Given the description of an element on the screen output the (x, y) to click on. 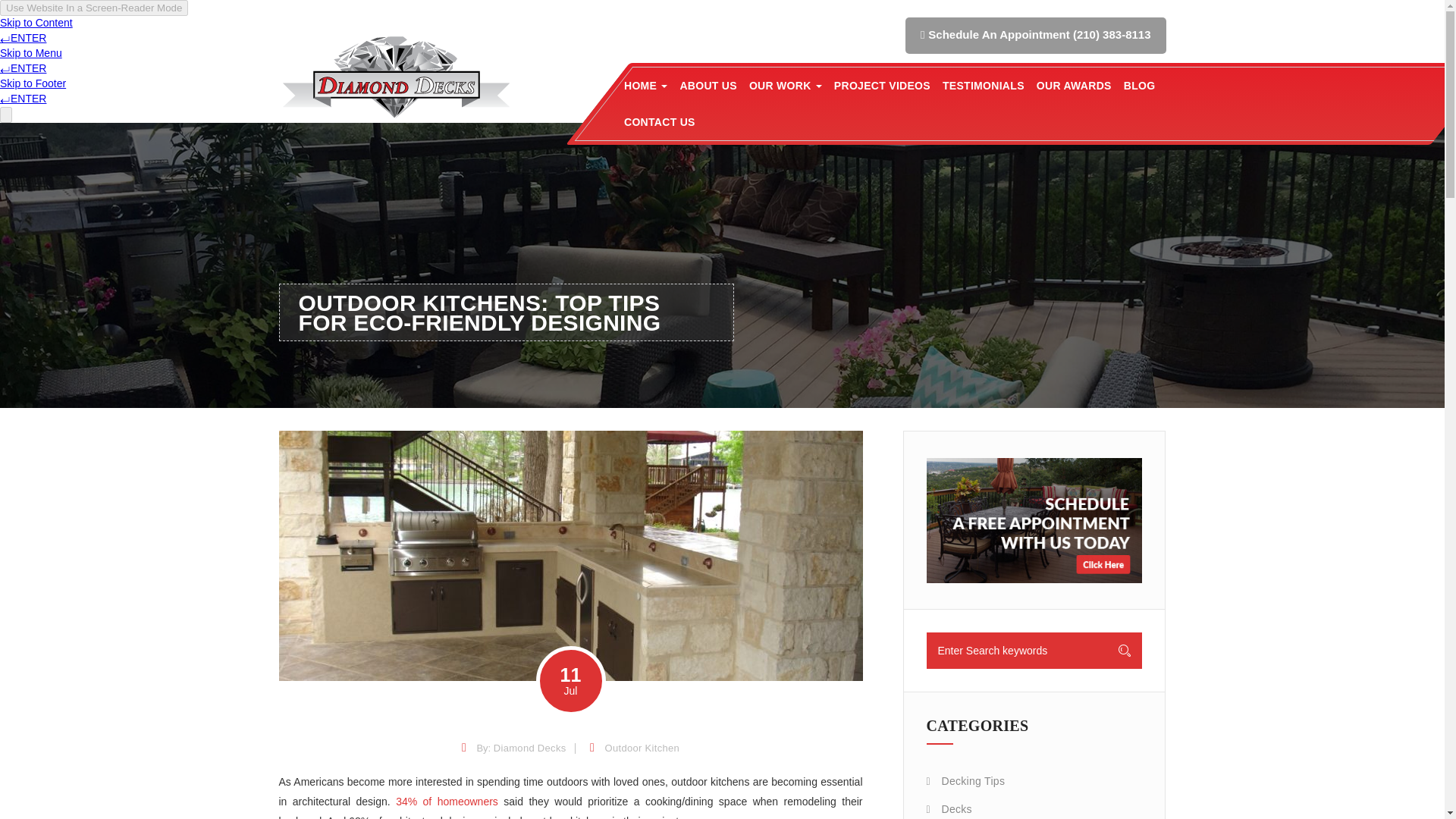
REFER A FRIEND (717, 119)
TESTIMONIALS (983, 85)
BLOG (1139, 85)
CONTACT US (659, 122)
PROJECT VIDEOS (882, 85)
Outdoor Kitchen (642, 747)
OUR AWARDS (1074, 85)
OUTDOOR FIREPLACES (842, 119)
CUSTOM DECKS (842, 119)
OUTDOOR PAVILIONS (842, 119)
FINANCING (717, 119)
CUSTOM DECKS (842, 119)
CUSTOM IRON DOORS (842, 119)
BLOG (1139, 85)
HOME (644, 85)
